Given the description of an element on the screen output the (x, y) to click on. 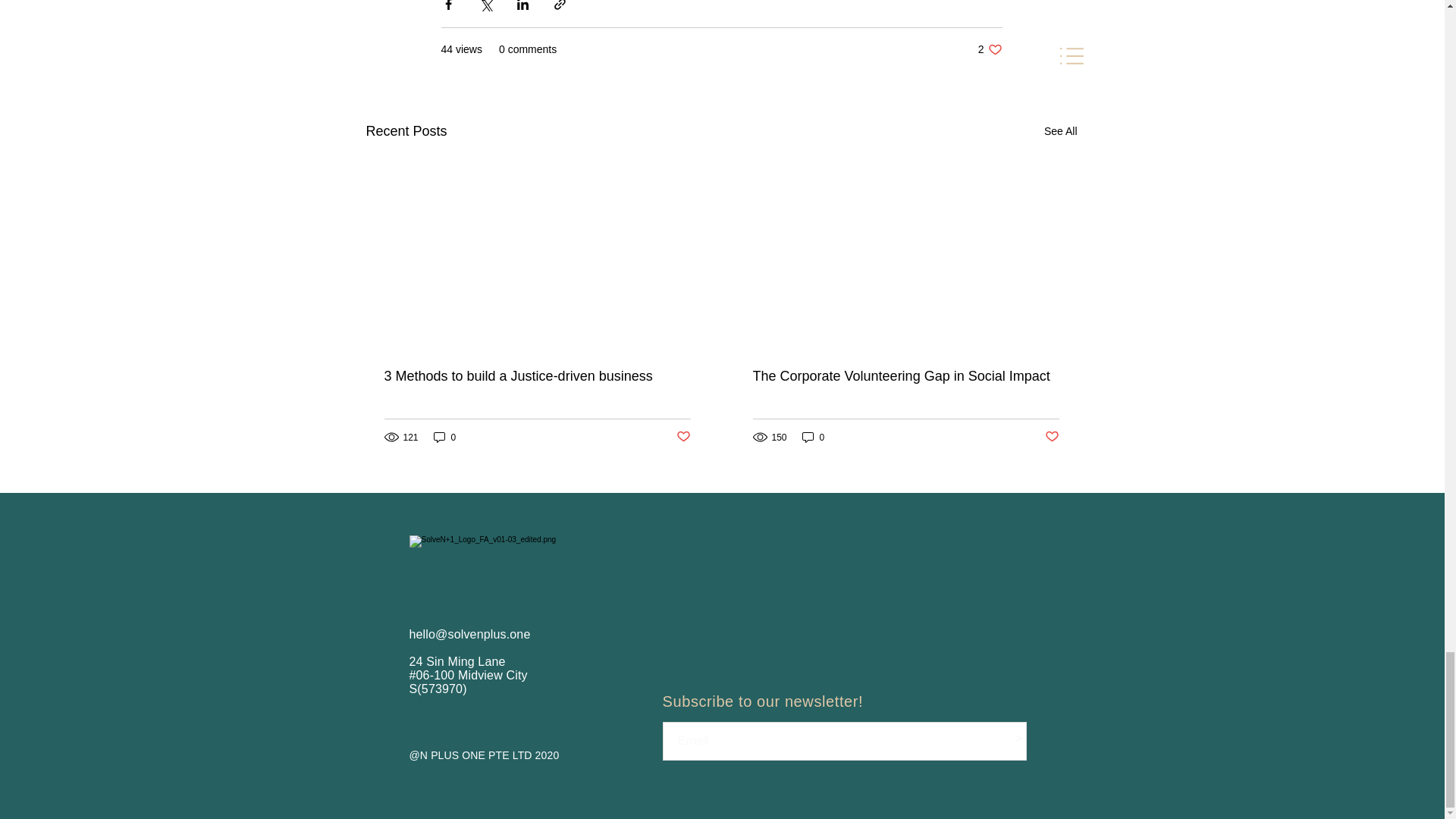
3 Methods to build a Justice-driven business (537, 376)
Post not marked as liked (683, 437)
0 (990, 49)
The Corporate Volunteering Gap in Social Impact (813, 436)
0 (905, 376)
See All (445, 436)
Post not marked as liked (1060, 131)
